Given the description of an element on the screen output the (x, y) to click on. 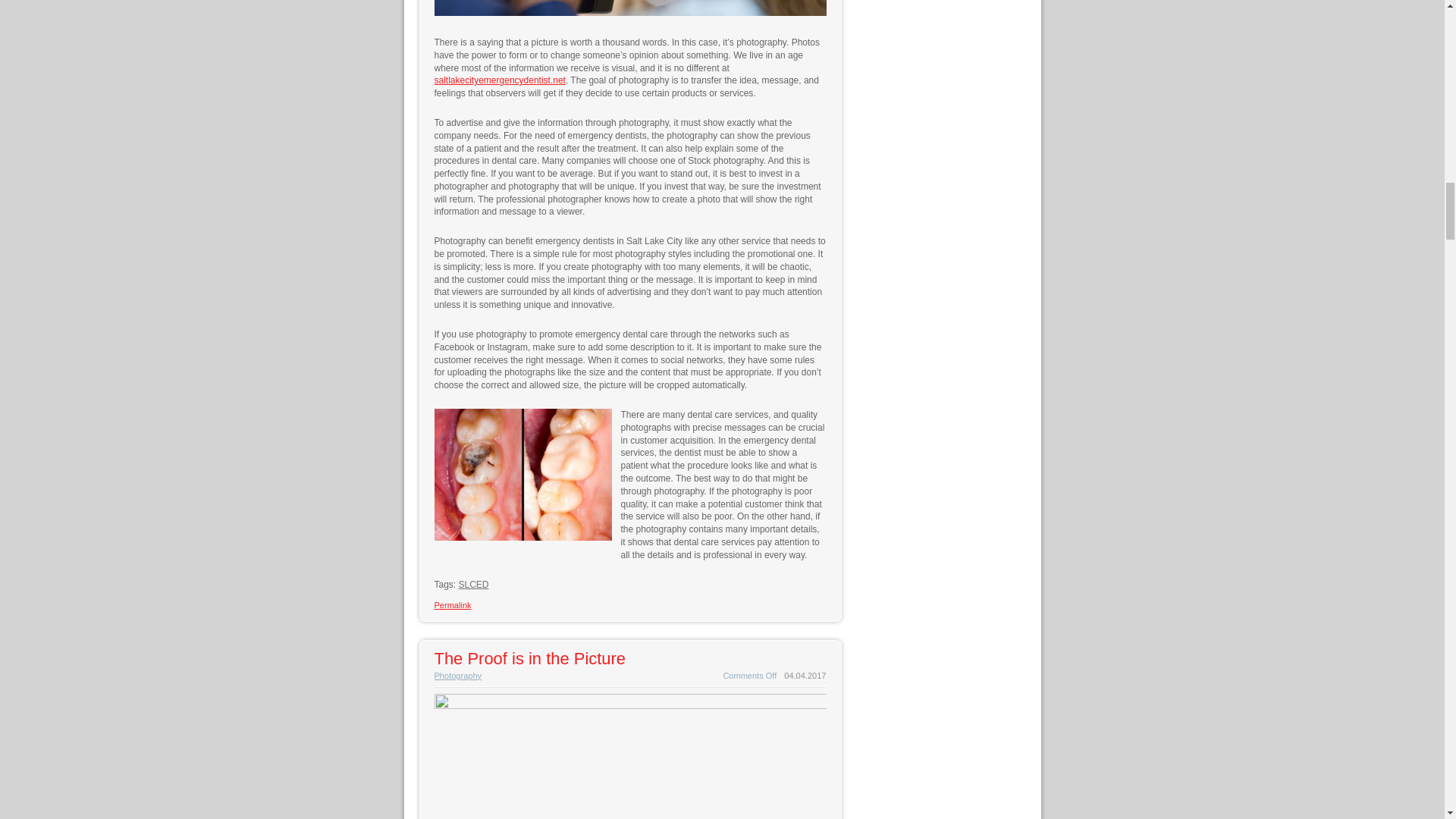
The Proof is in the Picture (529, 658)
SLCED (473, 584)
Permalink to: The Proof is in the Picture (529, 658)
saltlakecityemergencydentist.net (498, 80)
Photography (457, 675)
Permalink (451, 604)
